Given the description of an element on the screen output the (x, y) to click on. 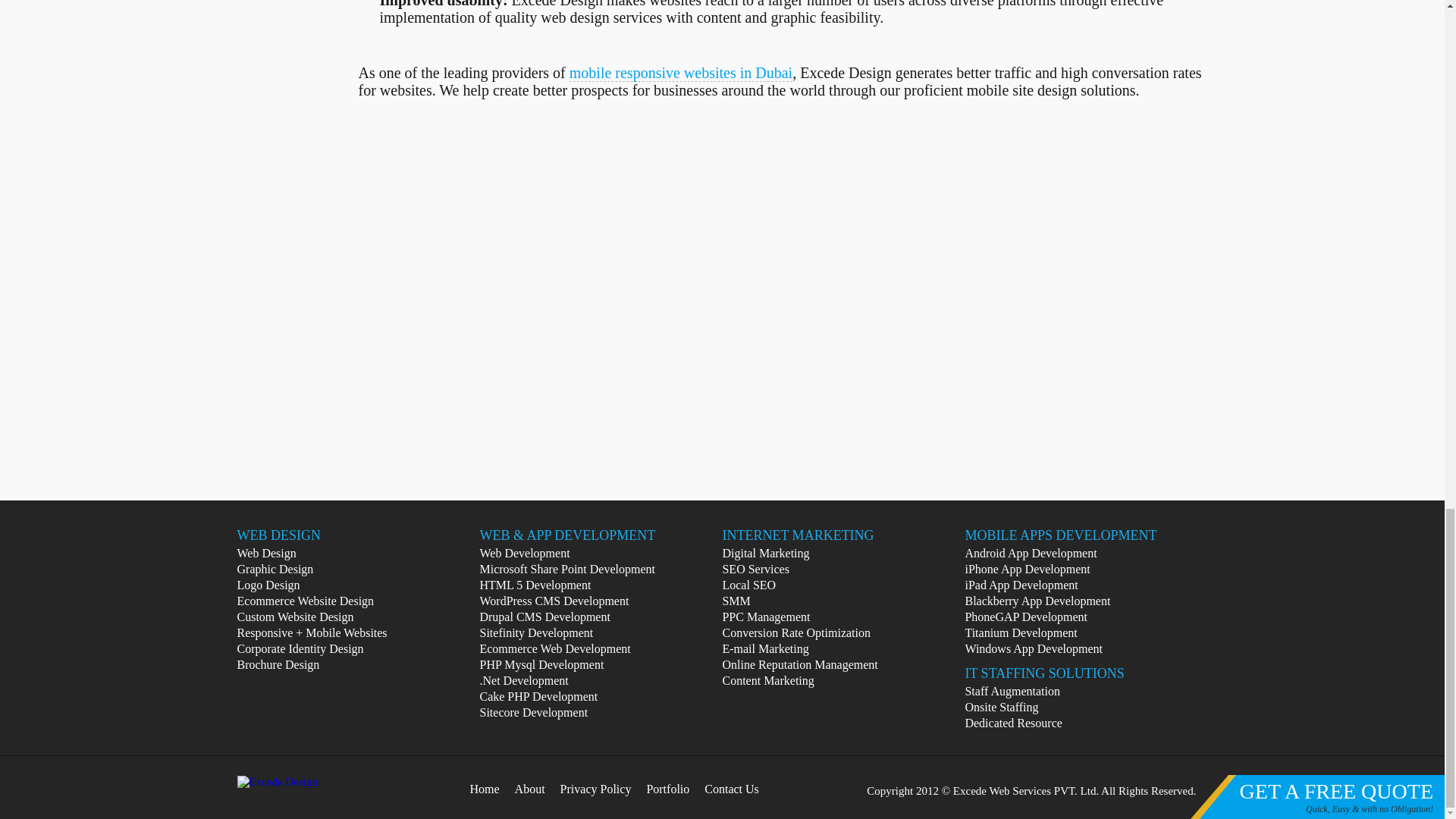
Drupal CMS Development (544, 616)
Web Design (265, 553)
Corporate Identity Design (298, 648)
mobile responsive websites in Dubai (680, 72)
Web Development (524, 553)
Sitecore Development (533, 712)
Excede Design (276, 781)
Local SEO (749, 584)
Microsoft Share Point Development (567, 568)
.Net Development (523, 680)
SEO Services (755, 568)
Sitefinity Development (535, 632)
Brochure Design (276, 664)
WordPress CMS Development (553, 600)
Logo Design (267, 584)
